Given the description of an element on the screen output the (x, y) to click on. 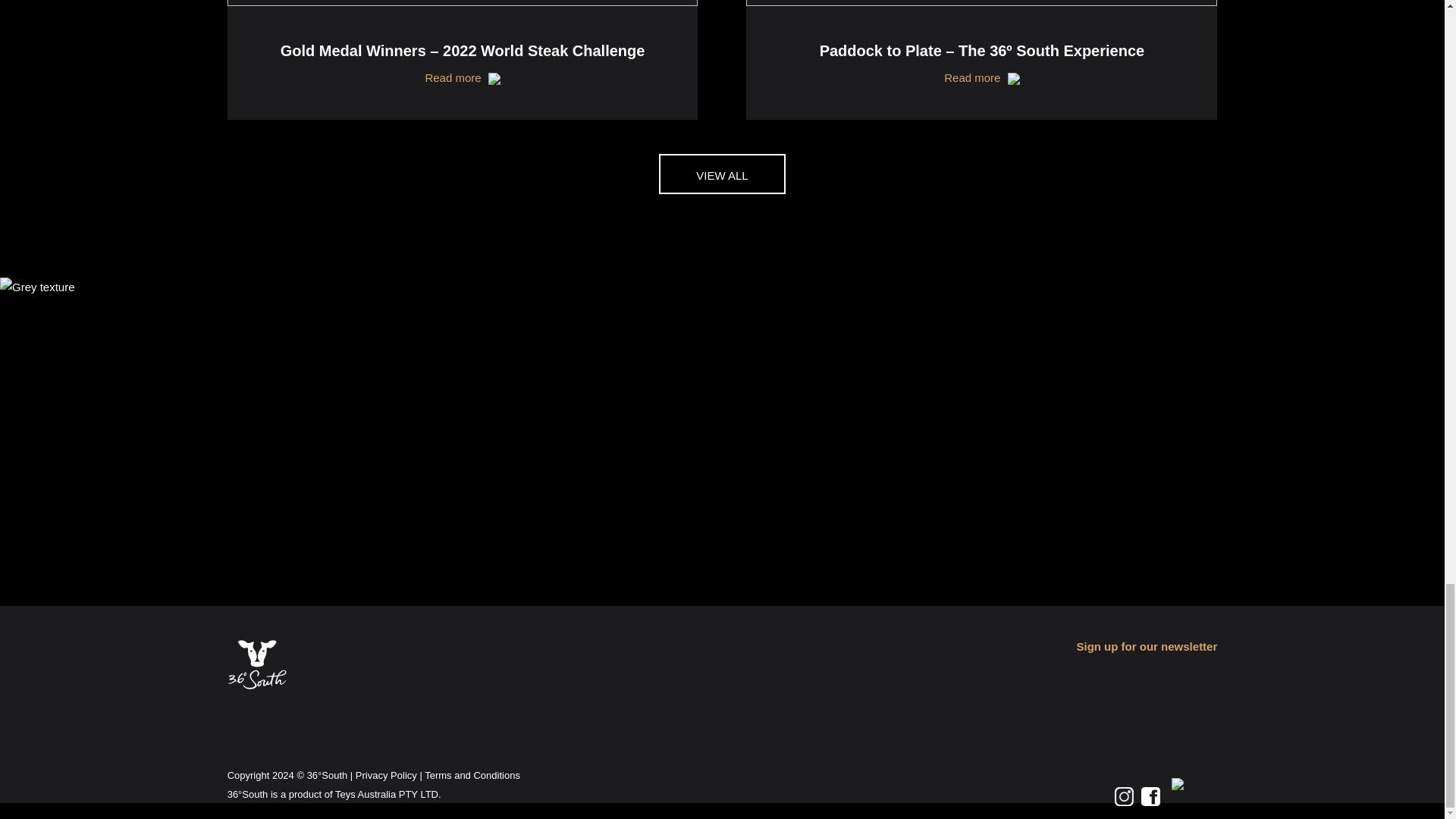
Terms and Conditions (472, 775)
Read more (981, 76)
Read more (462, 76)
VIEW ALL (722, 173)
Privacy Policy (385, 775)
